Given the description of an element on the screen output the (x, y) to click on. 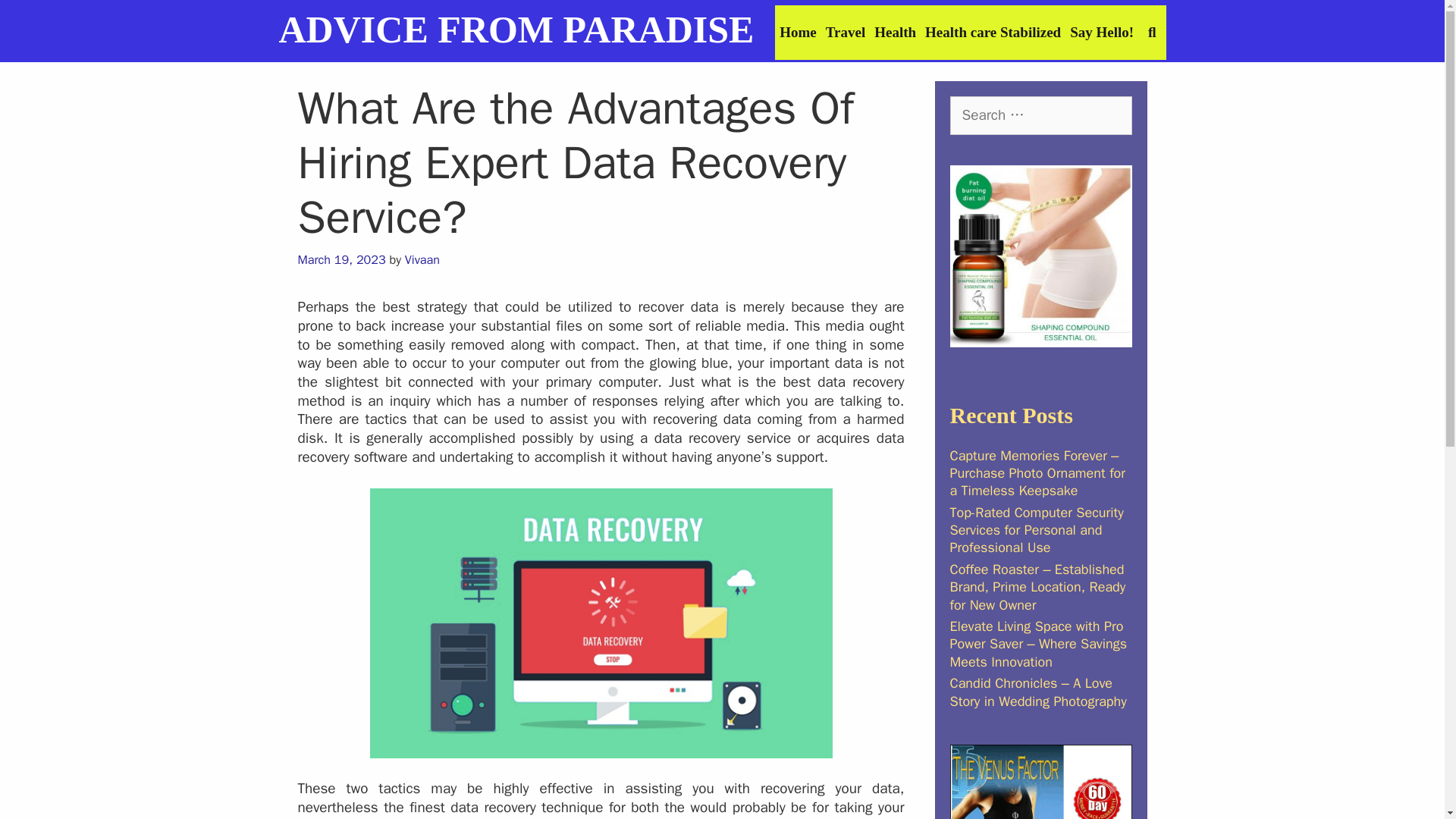
Home (797, 31)
Search (1152, 31)
March 19, 2023 (341, 259)
11:30 am (341, 259)
Say Hello! (1101, 31)
ADVICE FROM PARADISE (516, 29)
Health care Stabilized (992, 31)
View all posts by Vivaan (421, 259)
Search (1152, 31)
Vivaan (421, 259)
Health (894, 31)
Search (195, 27)
Search for: (1040, 115)
Search (36, 18)
